Given the description of an element on the screen output the (x, y) to click on. 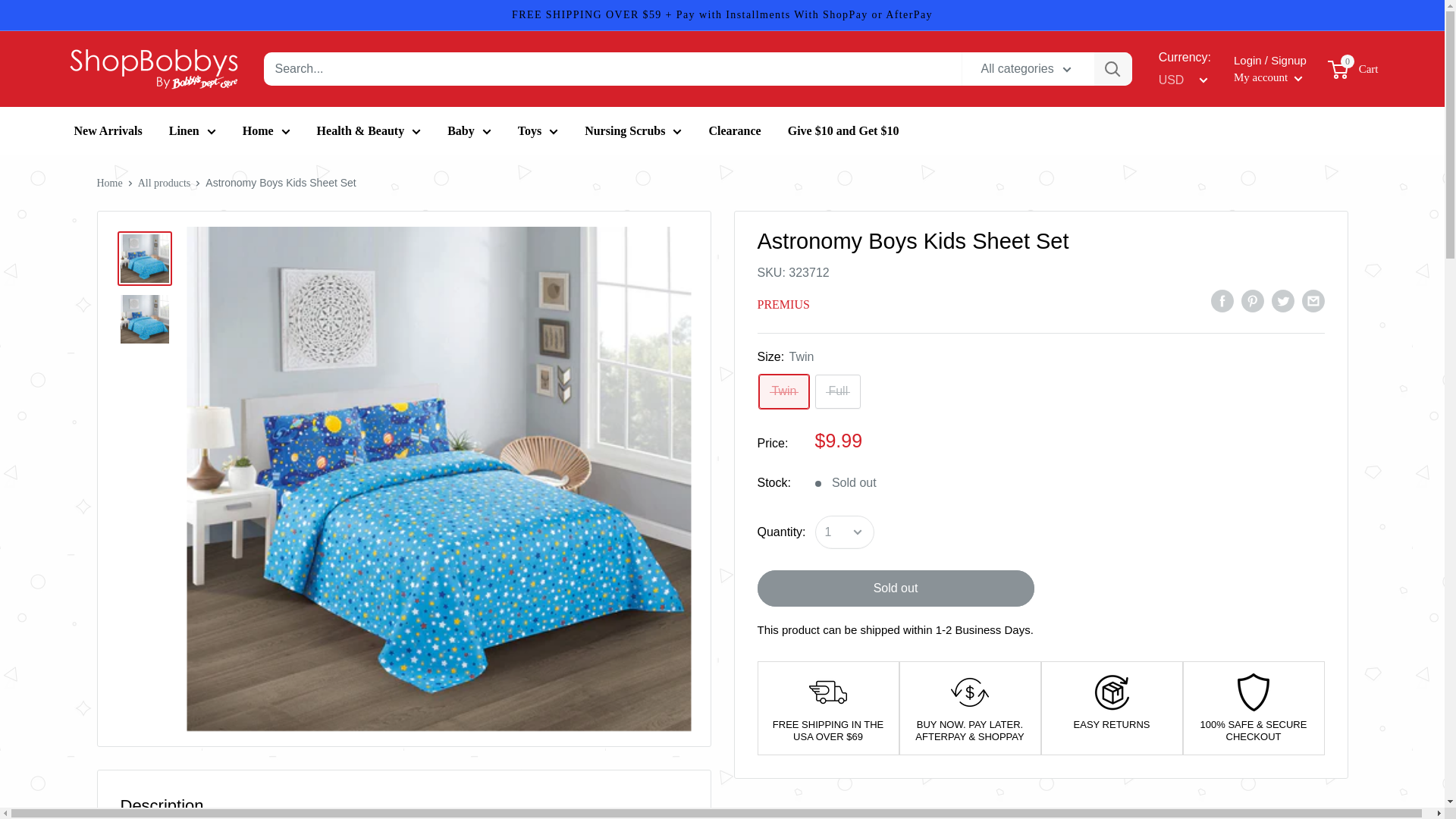
Twin (783, 391)
Currency (1181, 79)
Full (837, 391)
